Given the description of an element on the screen output the (x, y) to click on. 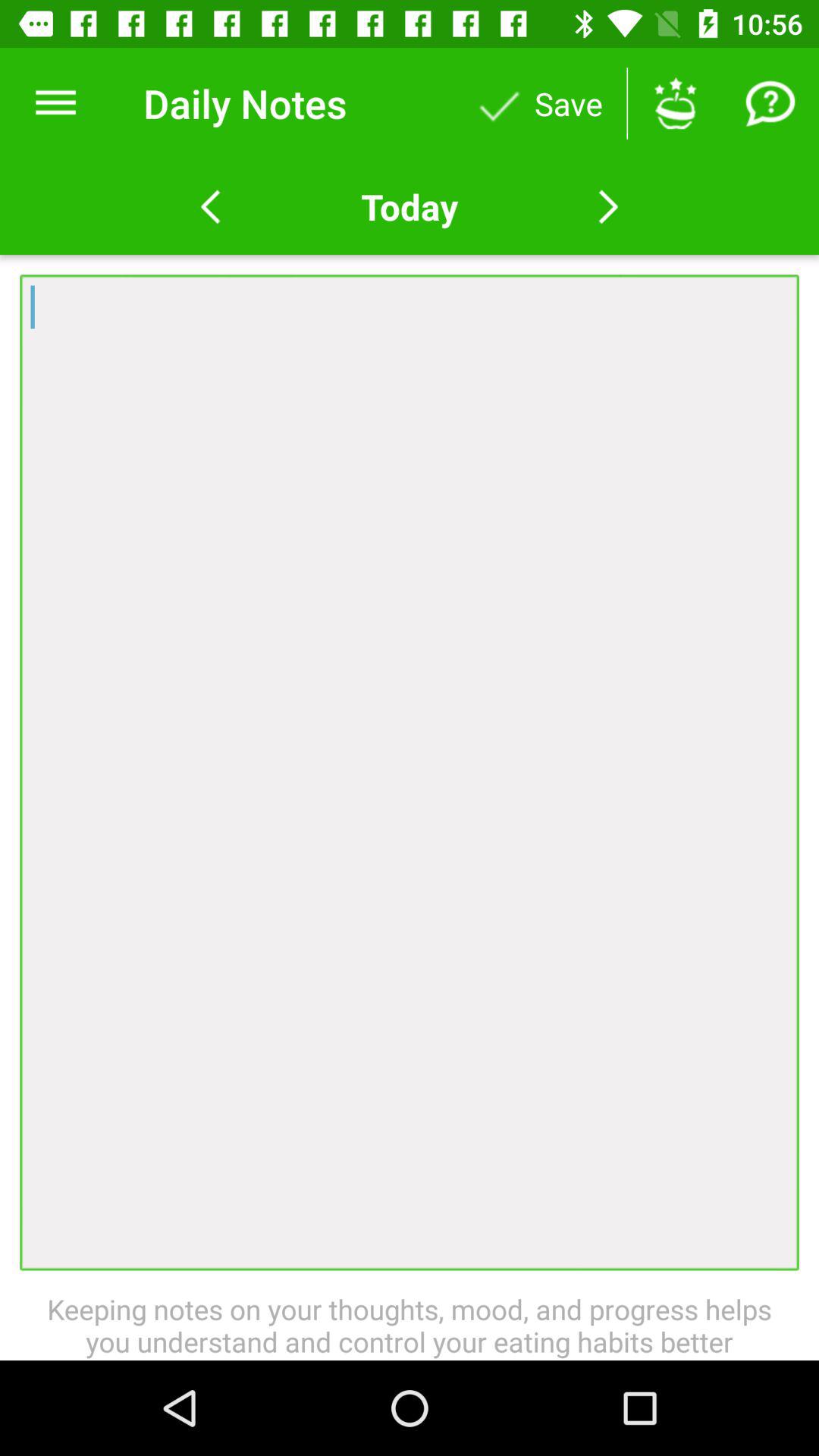
scroll until the today item (409, 206)
